Given the description of an element on the screen output the (x, y) to click on. 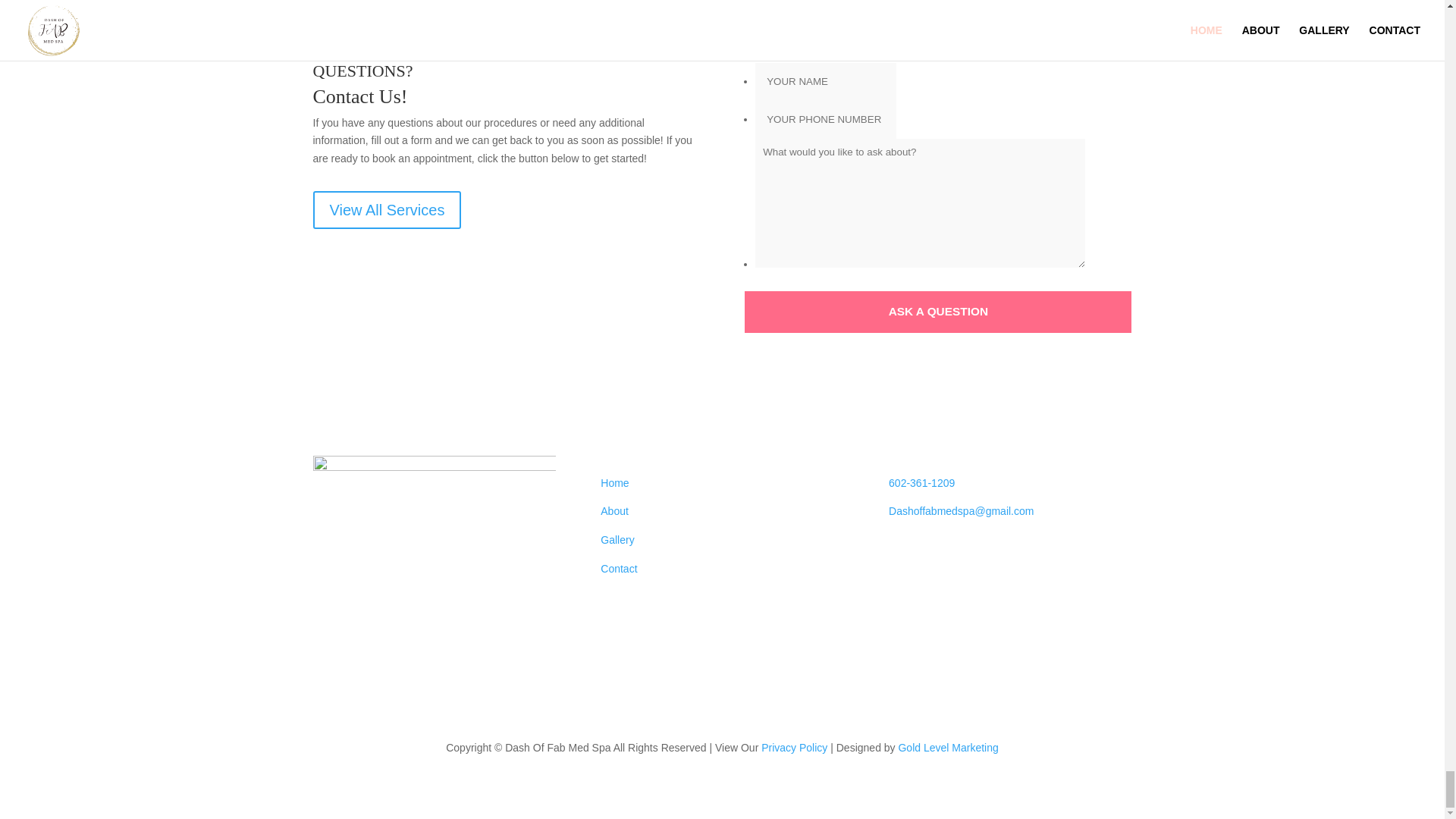
Ask A Question (937, 311)
Gallery (616, 539)
Privacy Policy (794, 747)
Contact (618, 568)
View All Services (387, 209)
Home (613, 482)
Ask A Question (937, 311)
LogoWhiteBG (433, 576)
About (613, 510)
602-361-1209 (921, 482)
Gold Level Marketing (947, 747)
